Given the description of an element on the screen output the (x, y) to click on. 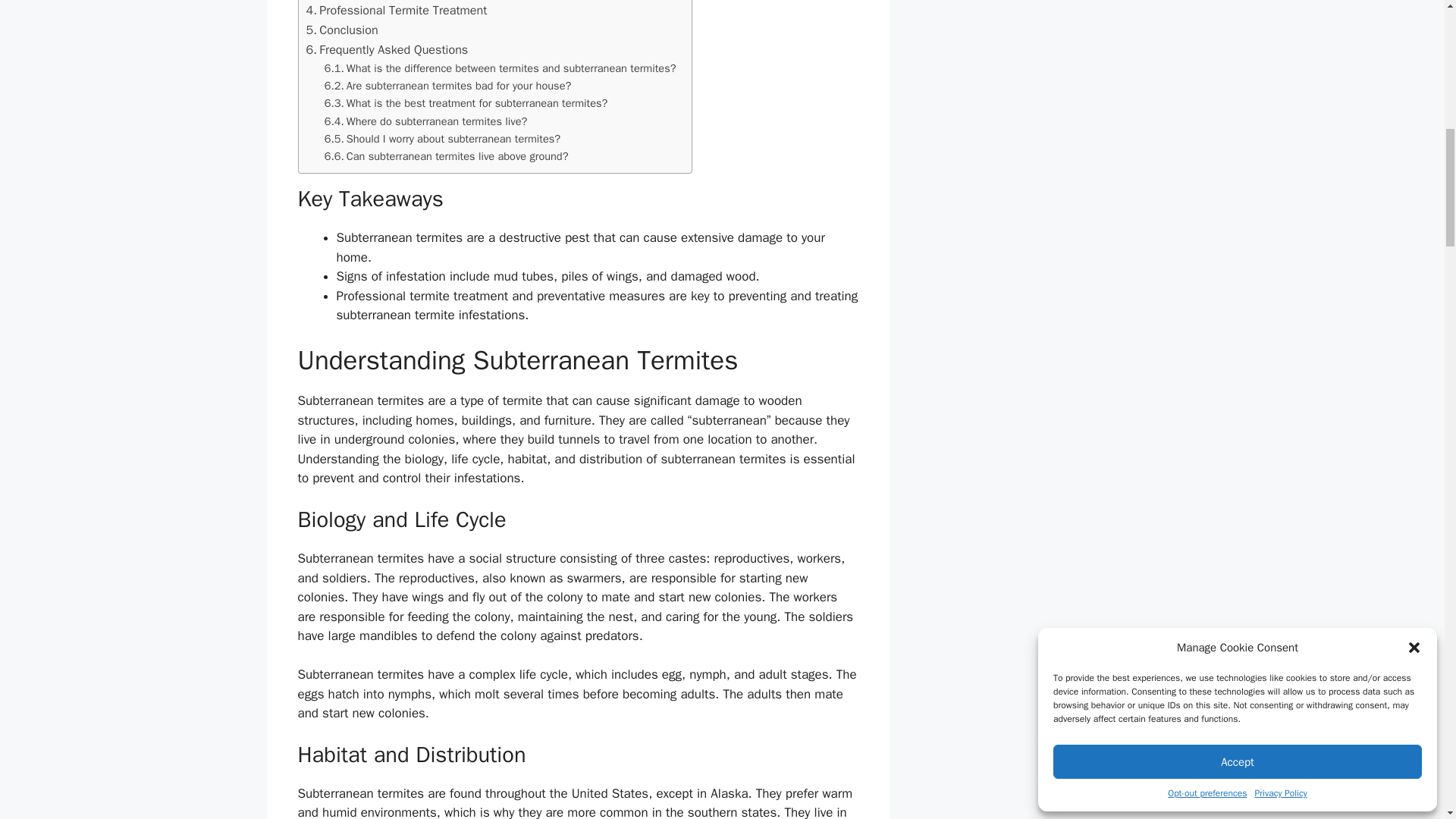
Conclusion (341, 30)
Frequently Asked Questions (386, 49)
Professional Termite Treatment (396, 10)
Professional Termite Treatment (396, 10)
